Given the description of an element on the screen output the (x, y) to click on. 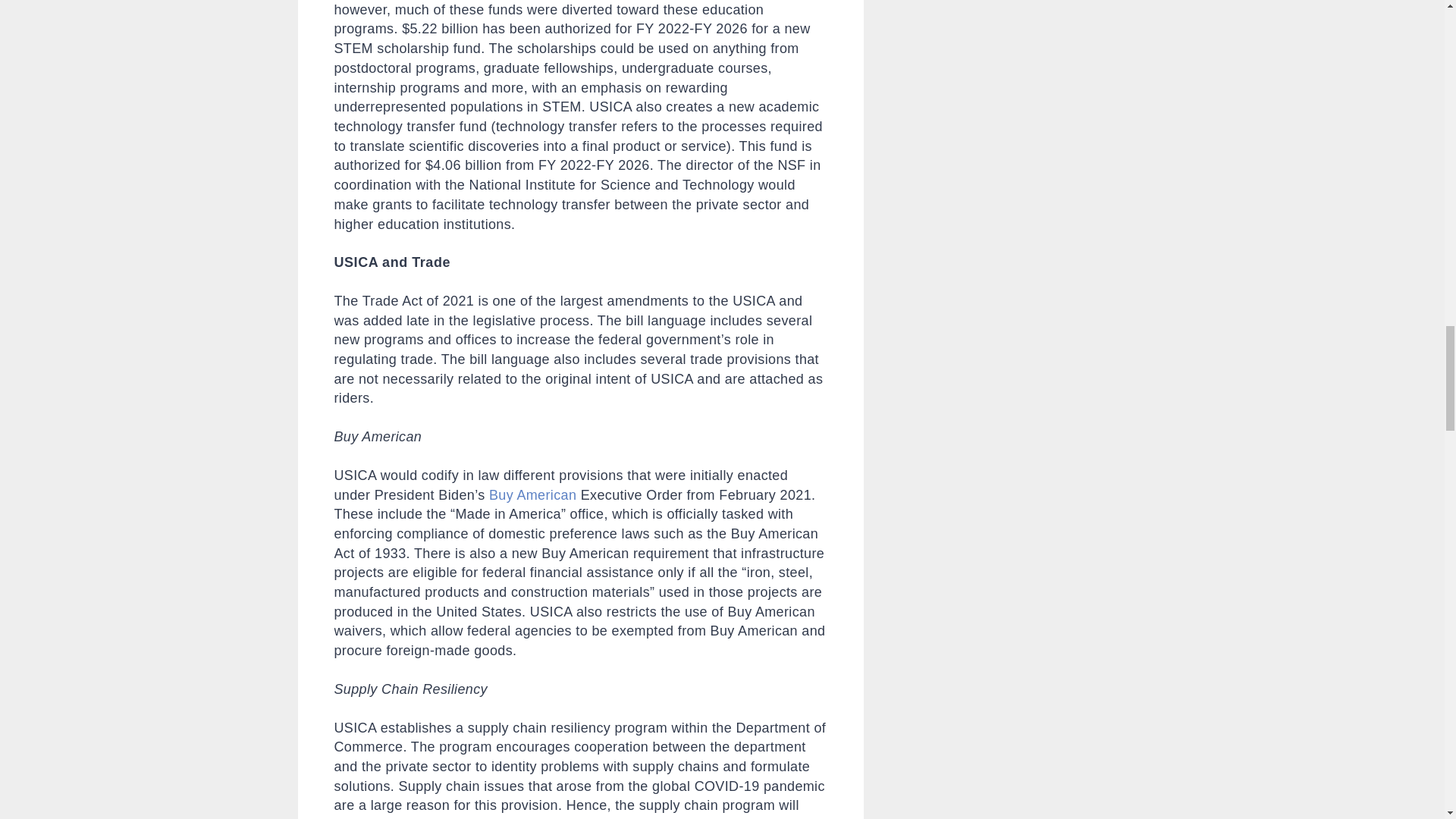
Buy American (532, 494)
